Given the description of an element on the screen output the (x, y) to click on. 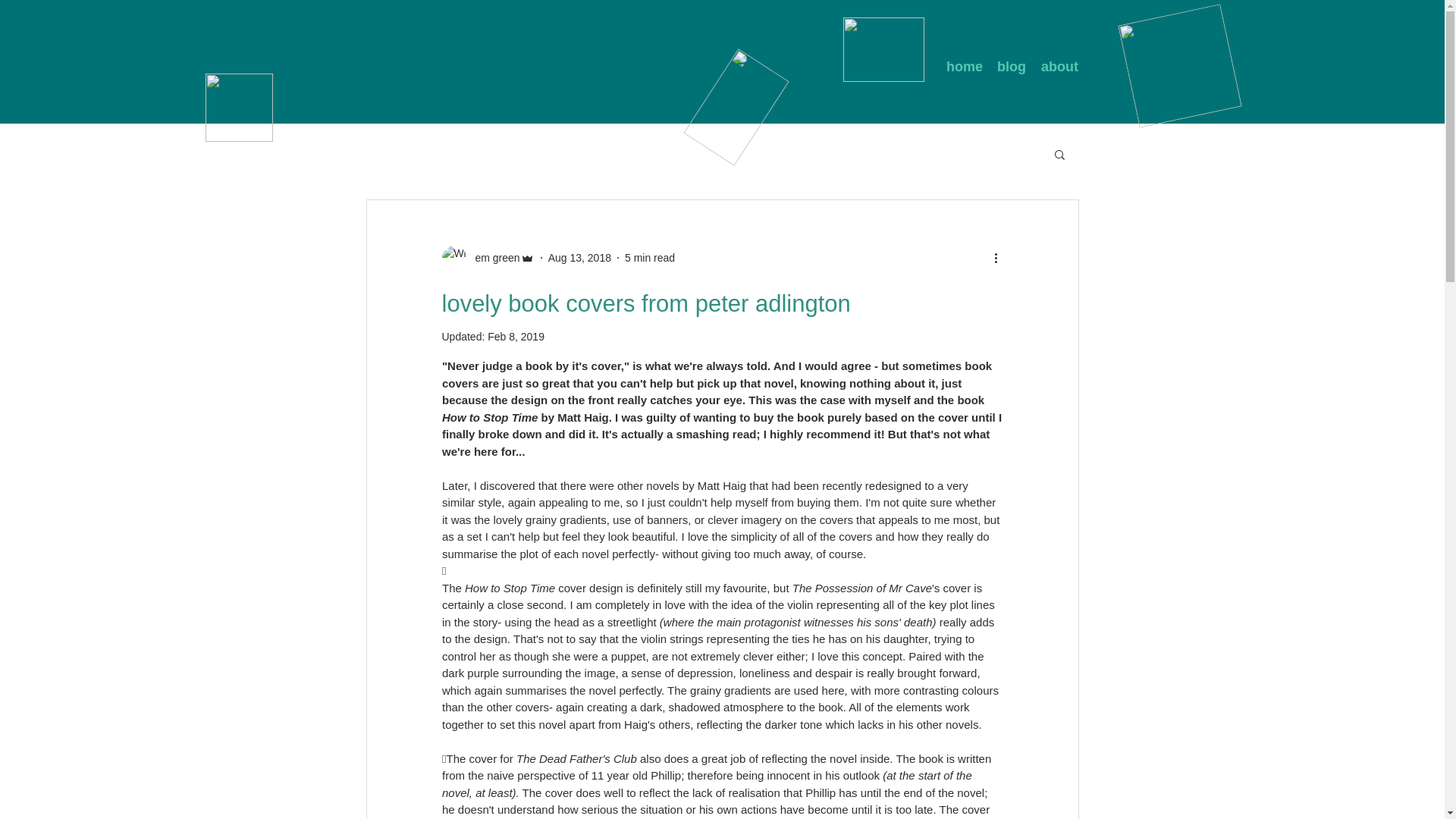
5 min read (649, 257)
Aug 13, 2018 (579, 257)
blog (1011, 66)
about (1059, 66)
em green (487, 257)
em green (492, 258)
Feb 8, 2019 (515, 336)
home (964, 66)
